Given the description of an element on the screen output the (x, y) to click on. 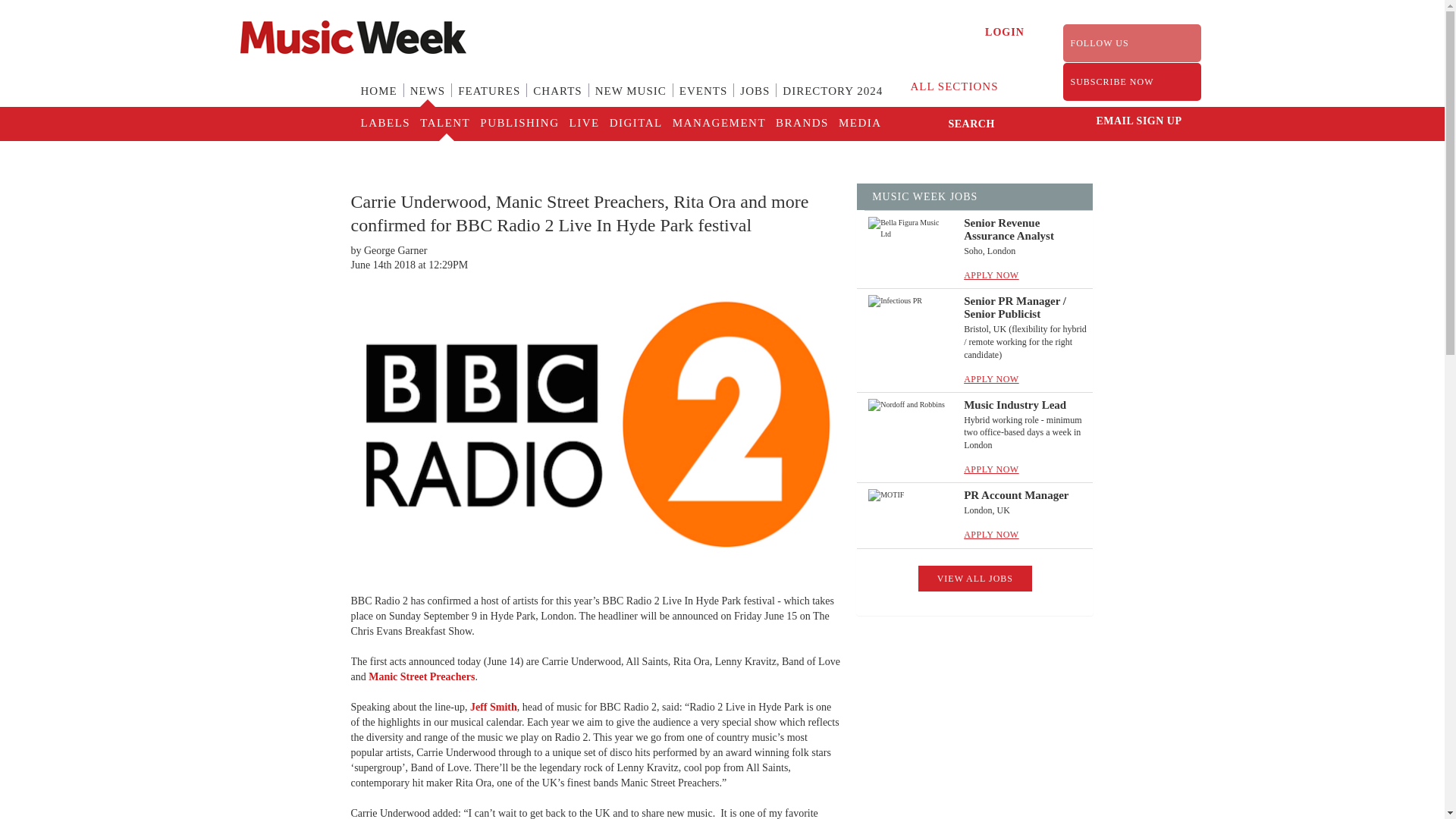
MEDIA (858, 123)
EVENTS (702, 100)
TALENT (443, 123)
DIGITAL (635, 123)
LABELS (384, 123)
LOGIN (1005, 31)
CHARTS (557, 100)
MANAGEMENT (718, 123)
NEWS (427, 100)
LIVE (582, 123)
